Given the description of an element on the screen output the (x, y) to click on. 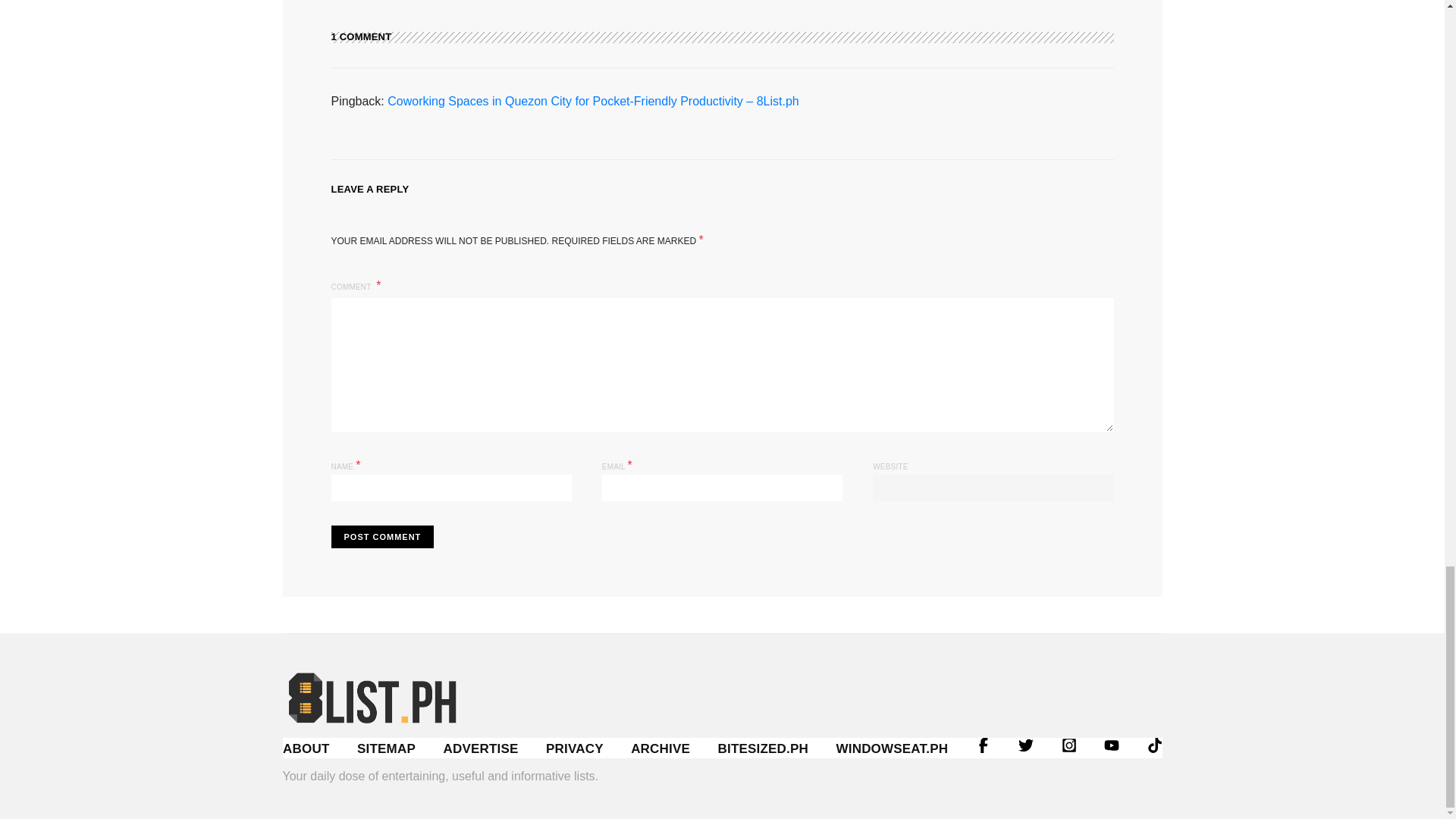
Post Comment (381, 536)
